Given the description of an element on the screen output the (x, y) to click on. 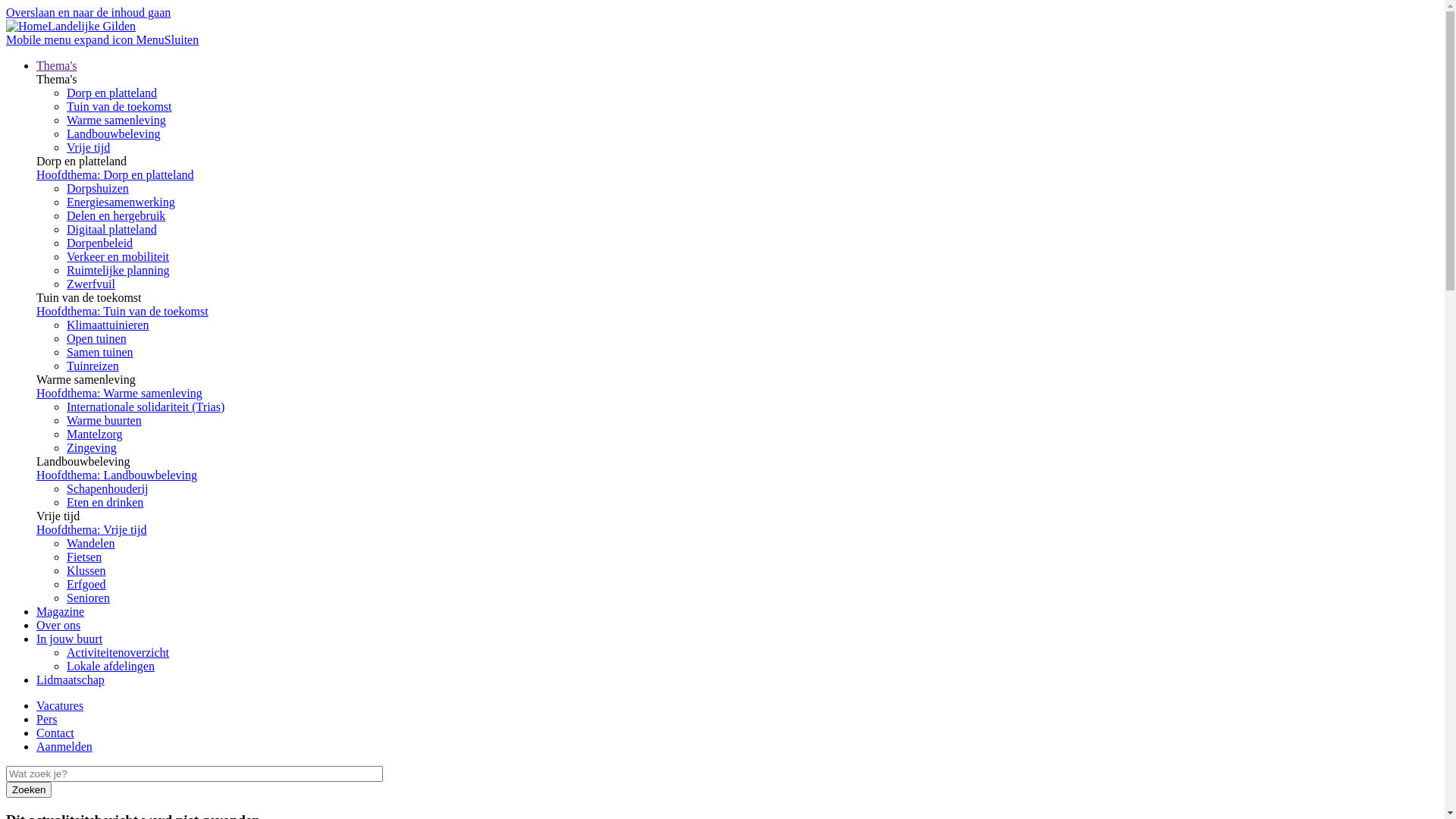
Dorp en platteland Element type: text (111, 92)
Internationale solidariteit (Trias) Element type: text (145, 406)
Open tuinen Element type: text (96, 338)
Zoeken Element type: text (28, 789)
Klussen Element type: text (86, 570)
Warme buurten Element type: text (103, 420)
Hoofdthema: Landbouwbeleving Element type: text (116, 474)
Landbouwbeleving Element type: text (113, 133)
Vrije tijd Element type: text (87, 147)
Zingeving Element type: text (91, 447)
Senioren Element type: text (87, 597)
Thema's Element type: text (56, 65)
Warme samenleving Element type: text (116, 119)
Erfgoed Element type: text (86, 583)
Verkeer en mobiliteit Element type: text (117, 256)
Overslaan en naar de inhoud gaan Element type: text (88, 12)
Over ons Element type: text (58, 624)
Wandelen Element type: text (90, 542)
Contact Element type: text (55, 732)
In jouw buurt Element type: text (69, 638)
Pers Element type: text (46, 718)
Tuin van de toekomst Element type: text (119, 106)
Zwerfvuil Element type: text (90, 283)
Schapenhouderij Element type: text (107, 488)
Eten en drinken Element type: text (104, 501)
Tuinreizen Element type: text (92, 365)
Aanmelden Element type: text (64, 746)
Hoofdthema: Vrije tijd Element type: text (91, 529)
Dorpenbeleid Element type: text (99, 242)
Mobile menu expand icon MenuSluiten Element type: text (102, 39)
Vacatures Element type: text (59, 705)
Delen en hergebruik Element type: text (115, 215)
Activiteitenoverzicht Element type: text (117, 652)
Lokale afdelingen Element type: text (110, 665)
Digitaal platteland Element type: text (111, 228)
Landelijke Gilden Element type: text (91, 25)
Hoofdthema: Tuin van de toekomst Element type: text (122, 310)
Hoofdthema: Dorp en platteland Element type: text (115, 174)
Dorpshuizen Element type: text (97, 188)
Klimaattuinieren Element type: text (107, 324)
Lidmaatschap Element type: text (70, 679)
Hoofdthema: Warme samenleving Element type: text (119, 392)
Energiesamenwerking Element type: text (120, 201)
Mantelzorg Element type: text (94, 433)
Home Element type: hover (26, 25)
Ruimtelijke planning Element type: text (117, 269)
Magazine Element type: text (60, 611)
Fietsen Element type: text (83, 556)
Samen tuinen Element type: text (99, 351)
